Given the description of an element on the screen output the (x, y) to click on. 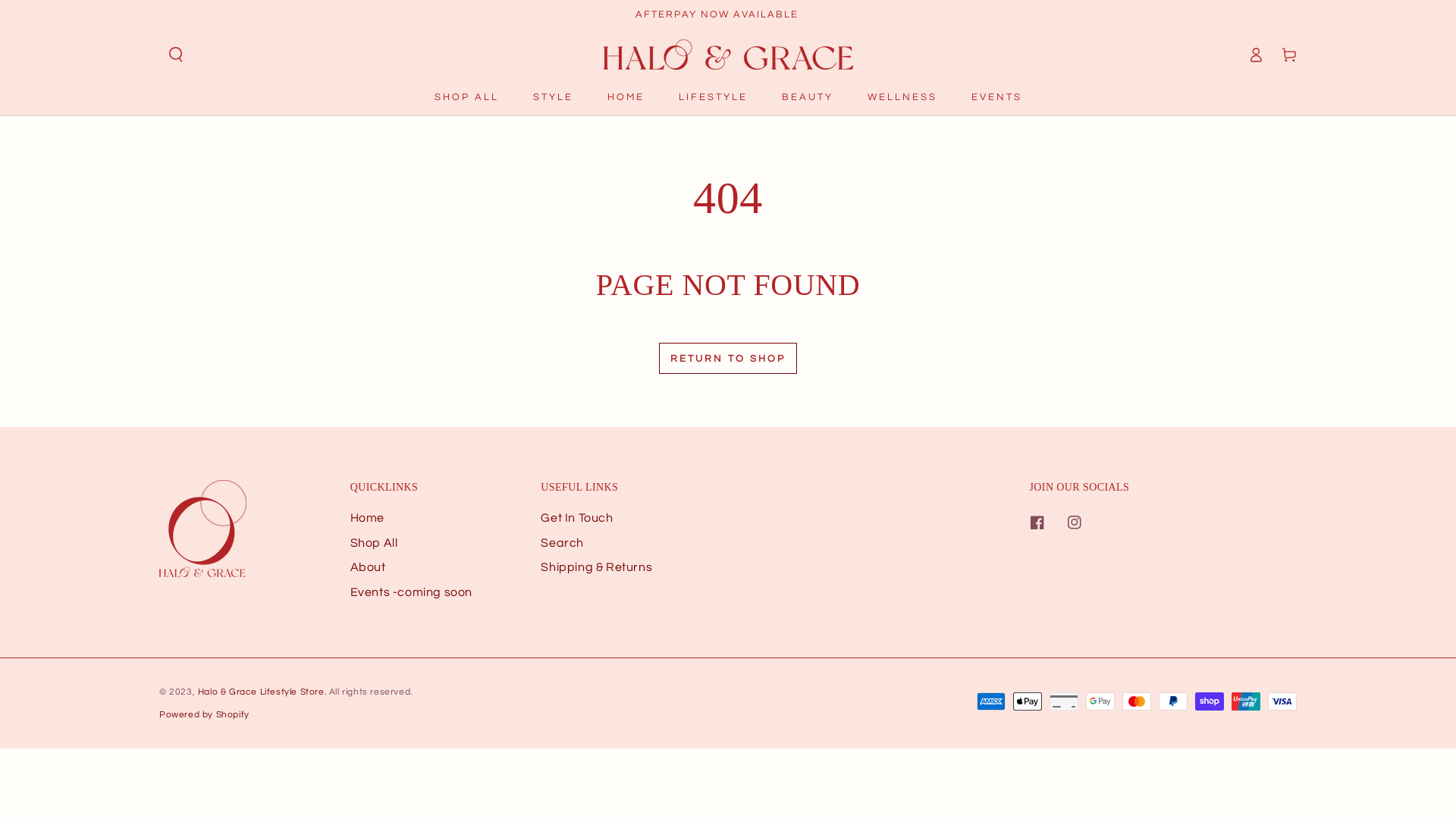
SHOP ALL Element type: text (466, 96)
Halo & Grace Lifestyle Store Element type: text (260, 691)
Facebook Element type: text (1037, 522)
WELLNESS Element type: text (901, 96)
Powered by Shopify Element type: text (204, 714)
STYLE Element type: text (552, 96)
Search Element type: text (561, 542)
Home Element type: text (367, 517)
Log in Element type: text (1255, 54)
Get In Touch Element type: text (576, 517)
Shop All Element type: text (374, 542)
About Element type: text (367, 567)
Shipping & Returns Element type: text (596, 567)
LIFESTYLE Element type: text (713, 96)
EVENTS Element type: text (996, 96)
Instagram Element type: text (1073, 522)
BEAUTY Element type: text (807, 96)
Events -coming soon Element type: text (411, 592)
RETURN TO SHOP Element type: text (727, 357)
HOME Element type: text (625, 96)
